Given the description of an element on the screen output the (x, y) to click on. 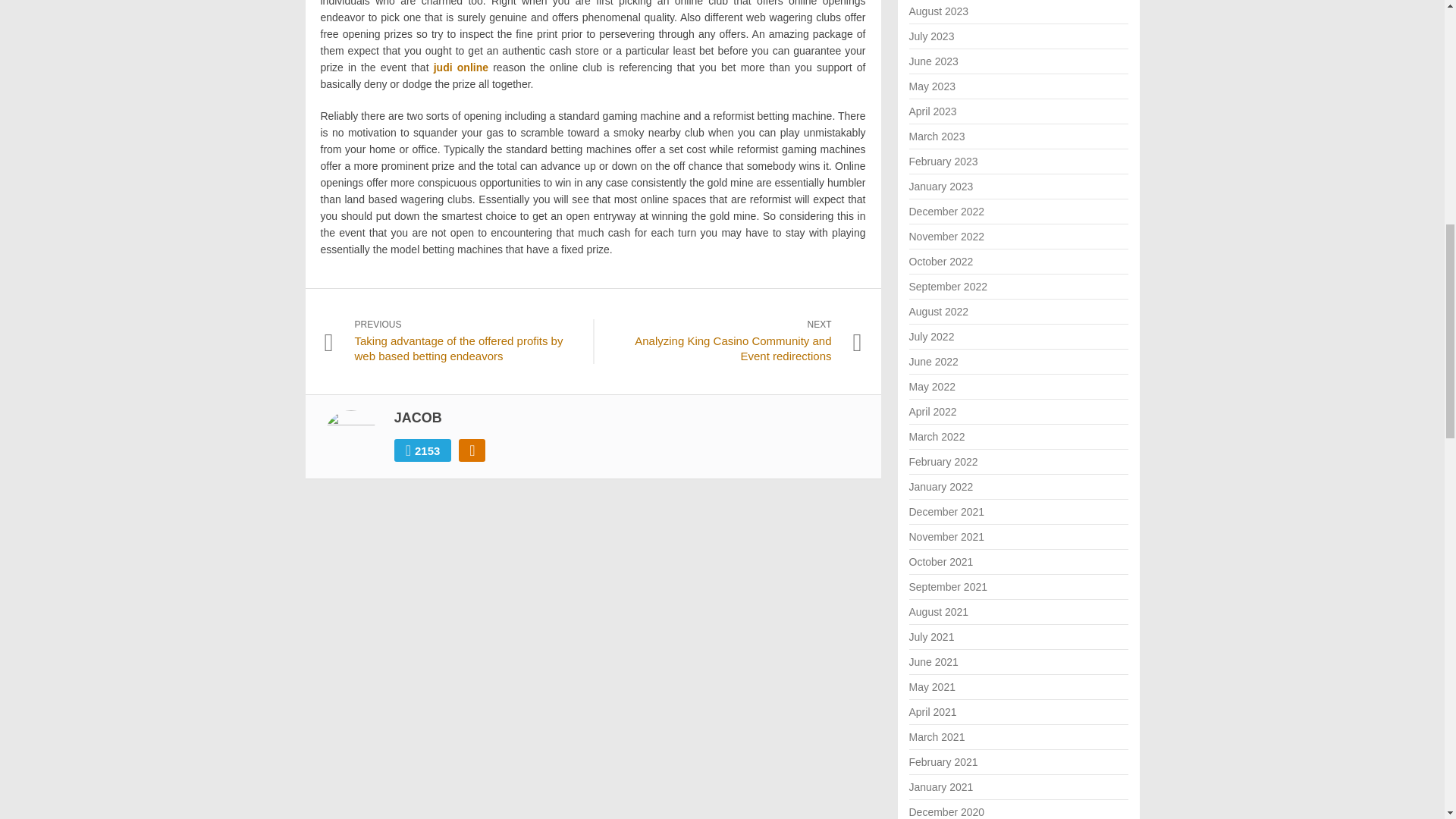
JACOB (418, 417)
Subscribe RSS Feed (471, 449)
May 2023 (931, 86)
February 2023 (942, 161)
March 2023 (935, 136)
June 2023 (933, 61)
July 2023 (930, 36)
April 2023 (932, 111)
2153 (422, 449)
